Given the description of an element on the screen output the (x, y) to click on. 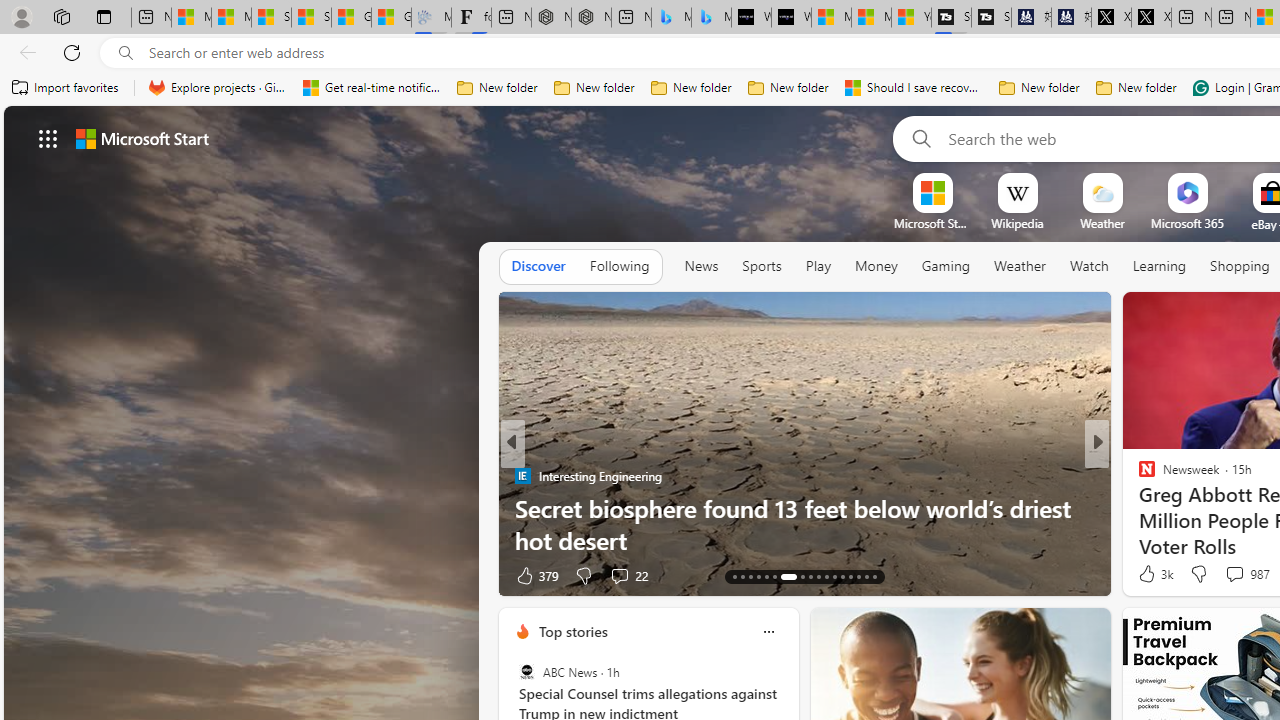
379 Like (535, 574)
View comments 1 Comment (1234, 574)
AutomationID: tab-19 (788, 576)
Search icon (125, 53)
202 Like (1151, 574)
